Given the description of an element on the screen output the (x, y) to click on. 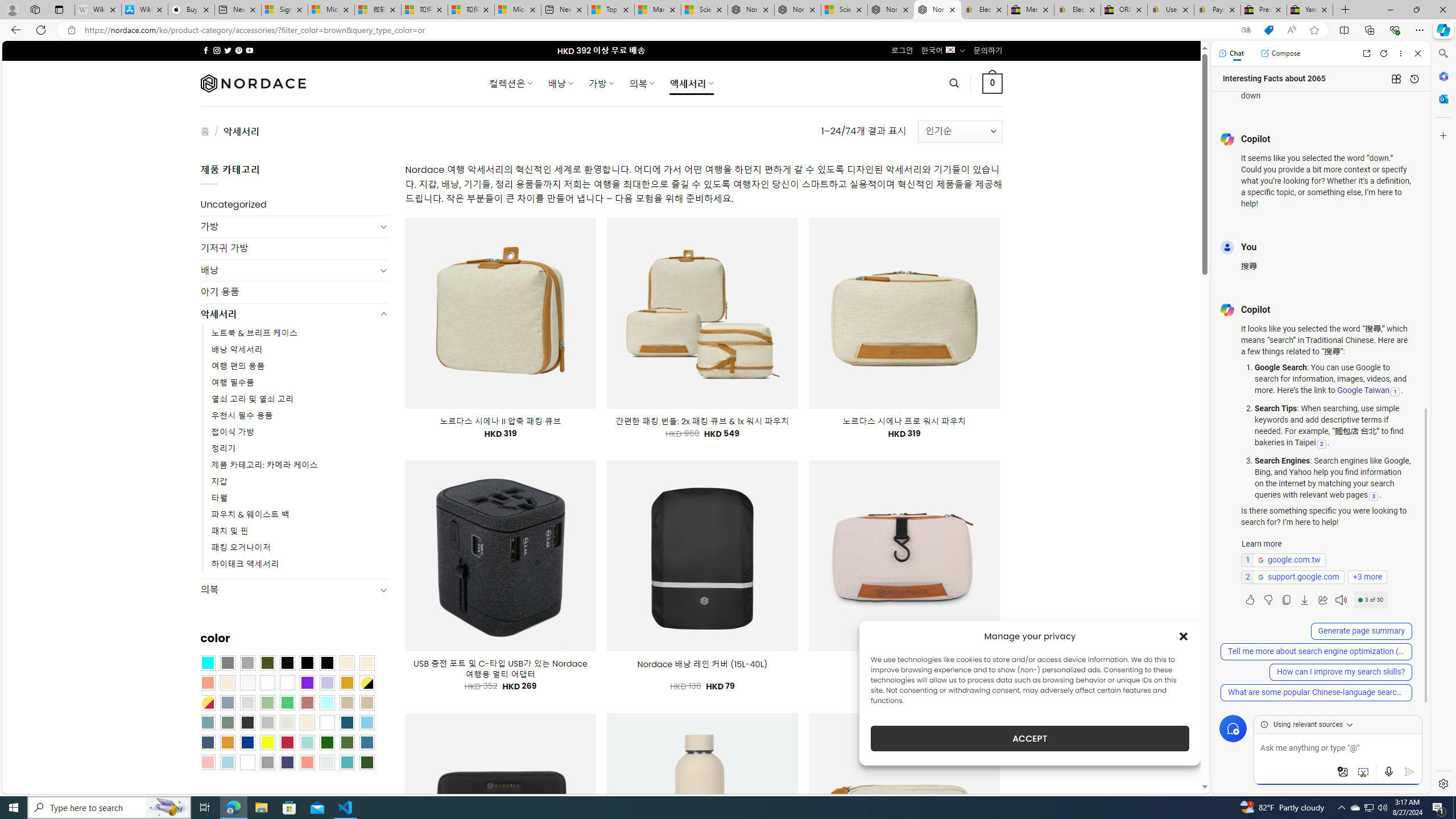
Uncategorized (294, 204)
